Given the description of an element on the screen output the (x, y) to click on. 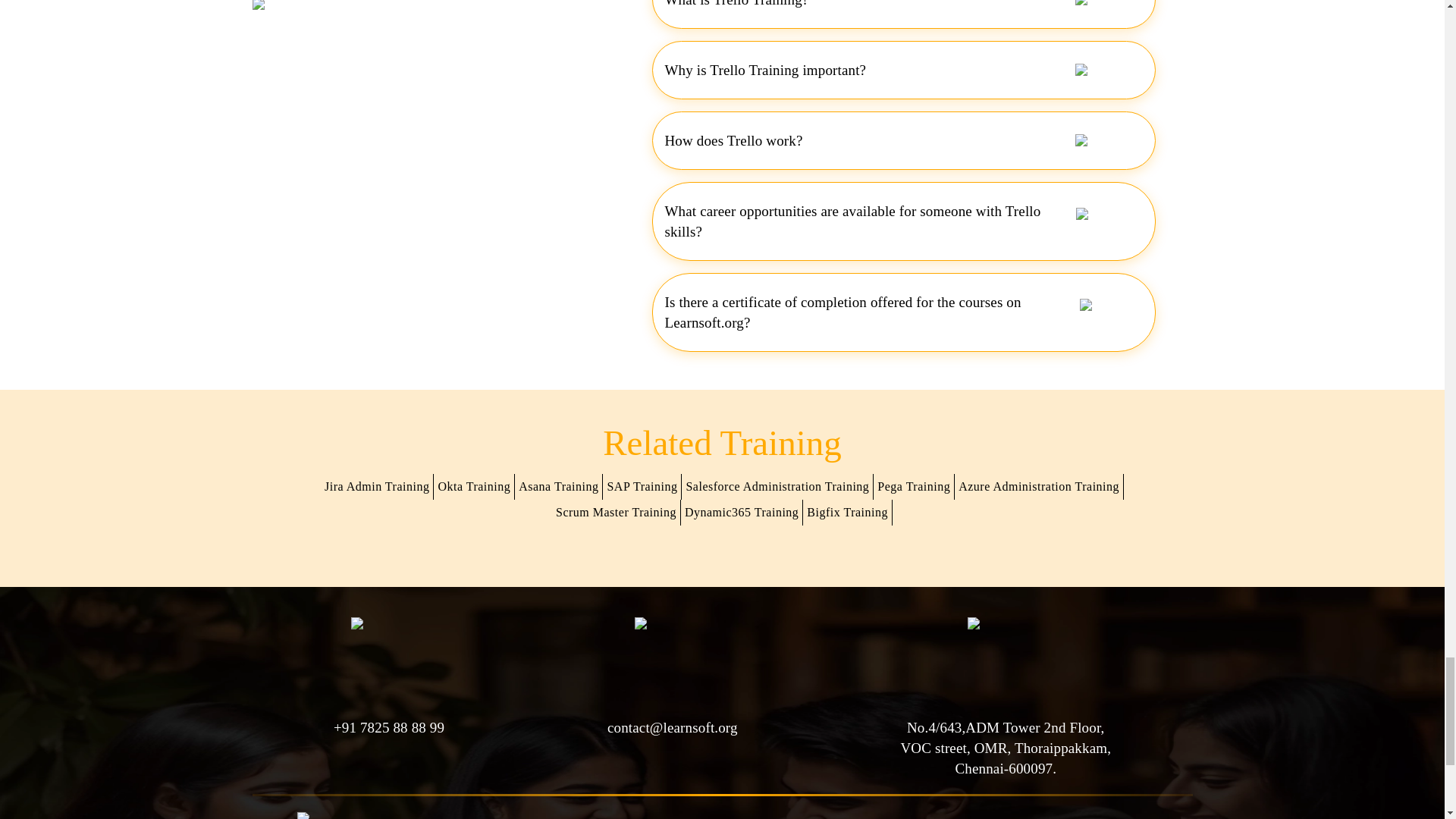
Bigfix Training (847, 512)
SAP Training (641, 486)
Salesforce Administration Training (777, 486)
Pega Training (914, 486)
Scrum Master Training (616, 512)
Dynamic365 Training (742, 512)
Asana Training (558, 486)
Azure Administration Training (1039, 486)
Okta Training (474, 486)
Jira Admin Training (376, 486)
